Given the description of an element on the screen output the (x, y) to click on. 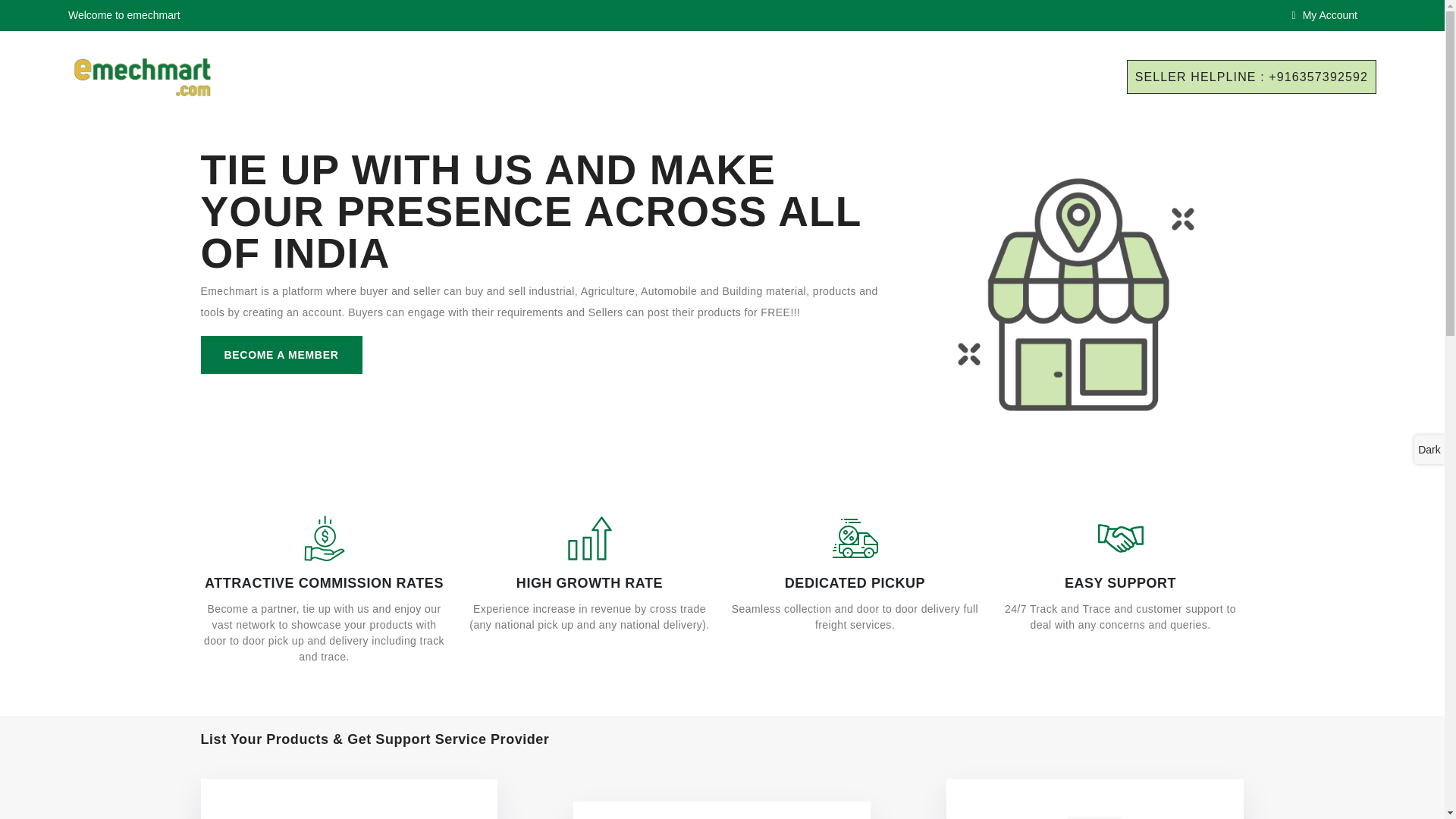
BECOME A MEMBER (280, 354)
